Given the description of an element on the screen output the (x, y) to click on. 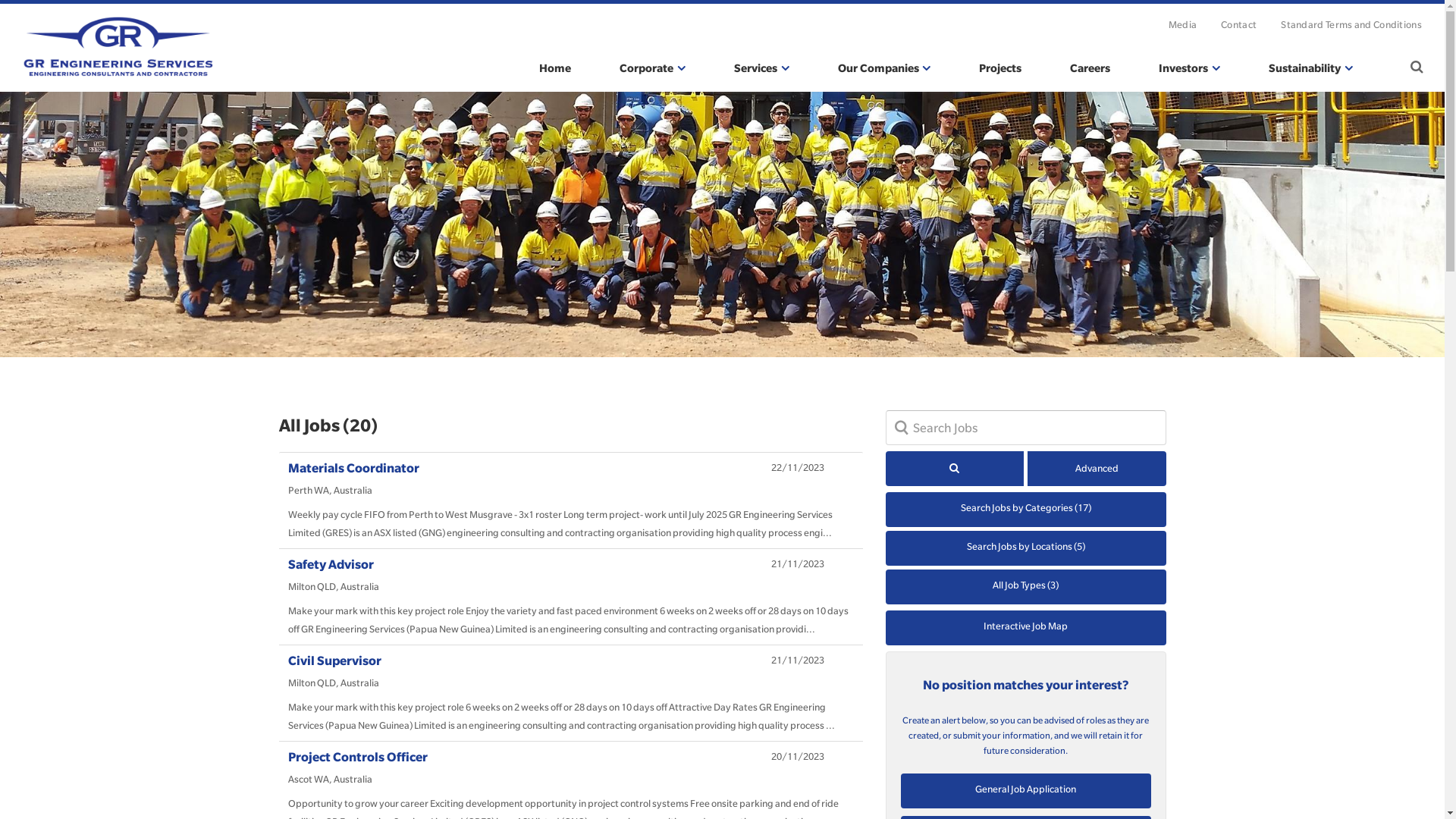
Contact Element type: text (1238, 24)
Search Element type: text (922, 24)
All Job Types (3) Element type: text (1025, 586)
Investors Element type: text (1189, 68)
Search Element type: text (1416, 67)
Our Companies Element type: text (884, 68)
Projects Element type: text (999, 67)
Corporate Element type: text (652, 68)
Careers Element type: text (1089, 67)
Media Element type: text (1182, 24)
Search Jobs by Categories (17) Element type: text (1025, 509)
General Job Application Element type: text (1025, 790)
Home Element type: text (555, 67)
Interactive Job Map Element type: text (1025, 627)
Sustainability Element type: text (1310, 68)
Services Element type: text (761, 68)
Search Jobs by Locations (5) Element type: text (1025, 547)
Advanced Element type: text (1096, 468)
Standard Terms and Conditions Element type: text (1350, 24)
